Given the description of an element on the screen output the (x, y) to click on. 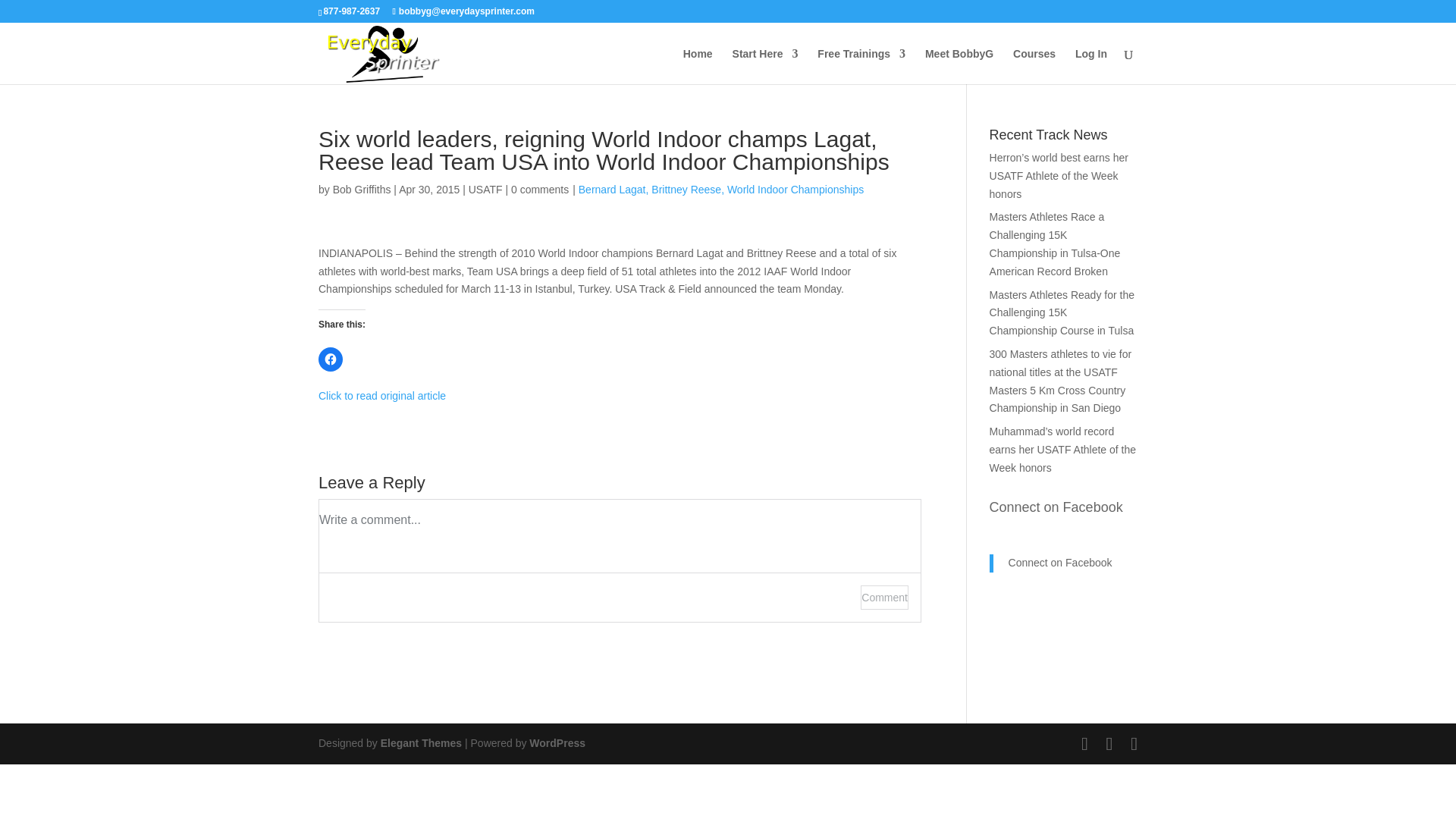
Brittney Reese (686, 189)
0 comments (540, 189)
Connect on Facebook (1056, 507)
Free Trainings (860, 66)
Start Here (764, 66)
Click to share on Facebook (330, 359)
Click to read original article (381, 395)
Connect on Facebook (1060, 562)
Posts by Bob Griffiths (362, 189)
Comment Form (619, 560)
Courses (1034, 66)
Bob Griffiths (362, 189)
Premium WordPress Themes (420, 743)
